Given the description of an element on the screen output the (x, y) to click on. 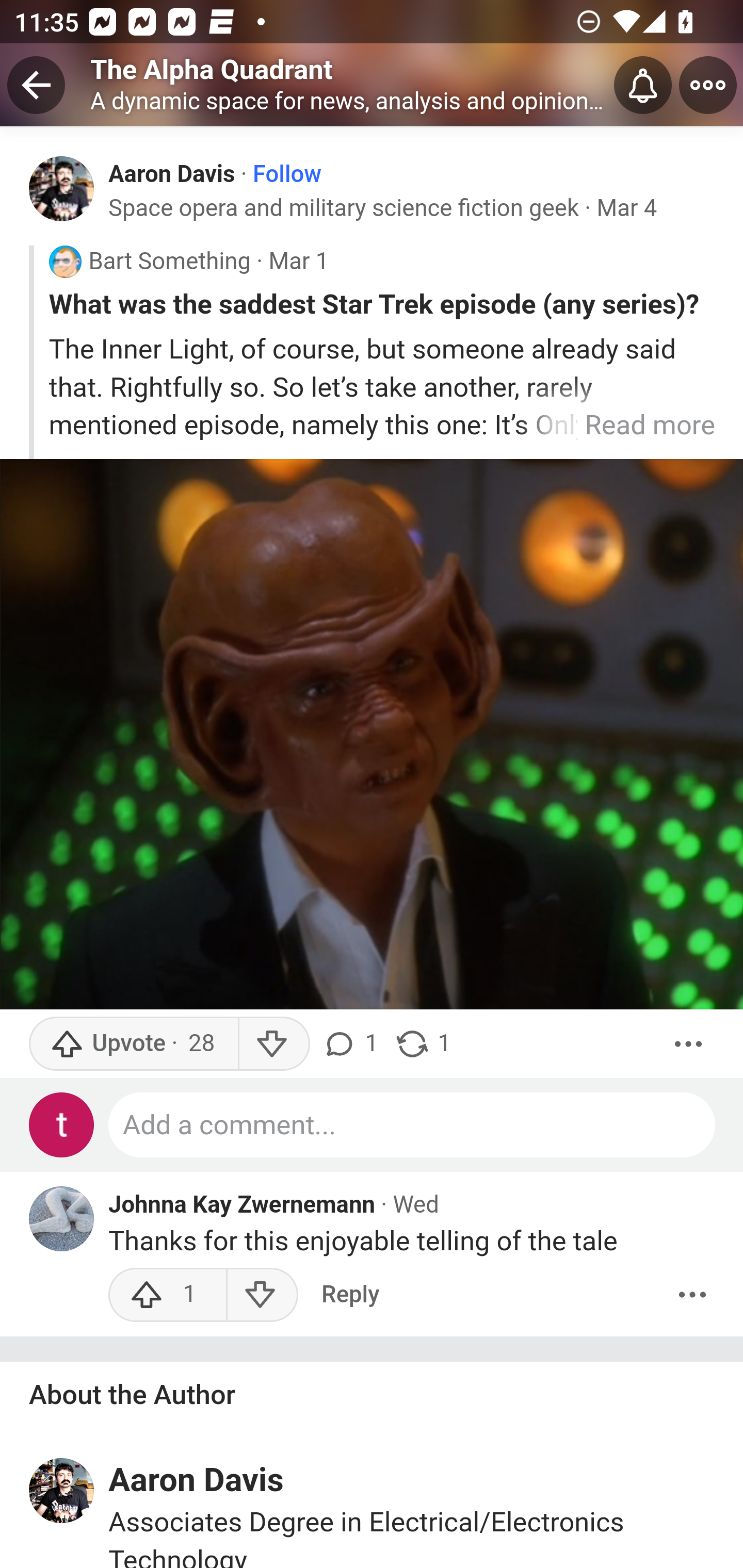
The Alpha Quadrant (211, 68)
Profile photo for Aaron Davis (61, 188)
Aaron Davis (172, 173)
Follow (287, 174)
Profile photo for Bart Something (64, 262)
Upvote (133, 1044)
Downvote (273, 1044)
1 comment (353, 1044)
1 share (421, 1044)
More (688, 1044)
Profile photo for Test Appium (61, 1124)
Add a comment... (412, 1124)
Profile photo for Johnna Kay Zwernemann (61, 1218)
Johnna Kay Zwernemann (241, 1204)
1 upvote (167, 1294)
Downvote (261, 1294)
Reply (350, 1294)
More (691, 1294)
Profile photo for Aaron Davis (61, 1490)
Aaron Davis (196, 1480)
